Given the description of an element on the screen output the (x, y) to click on. 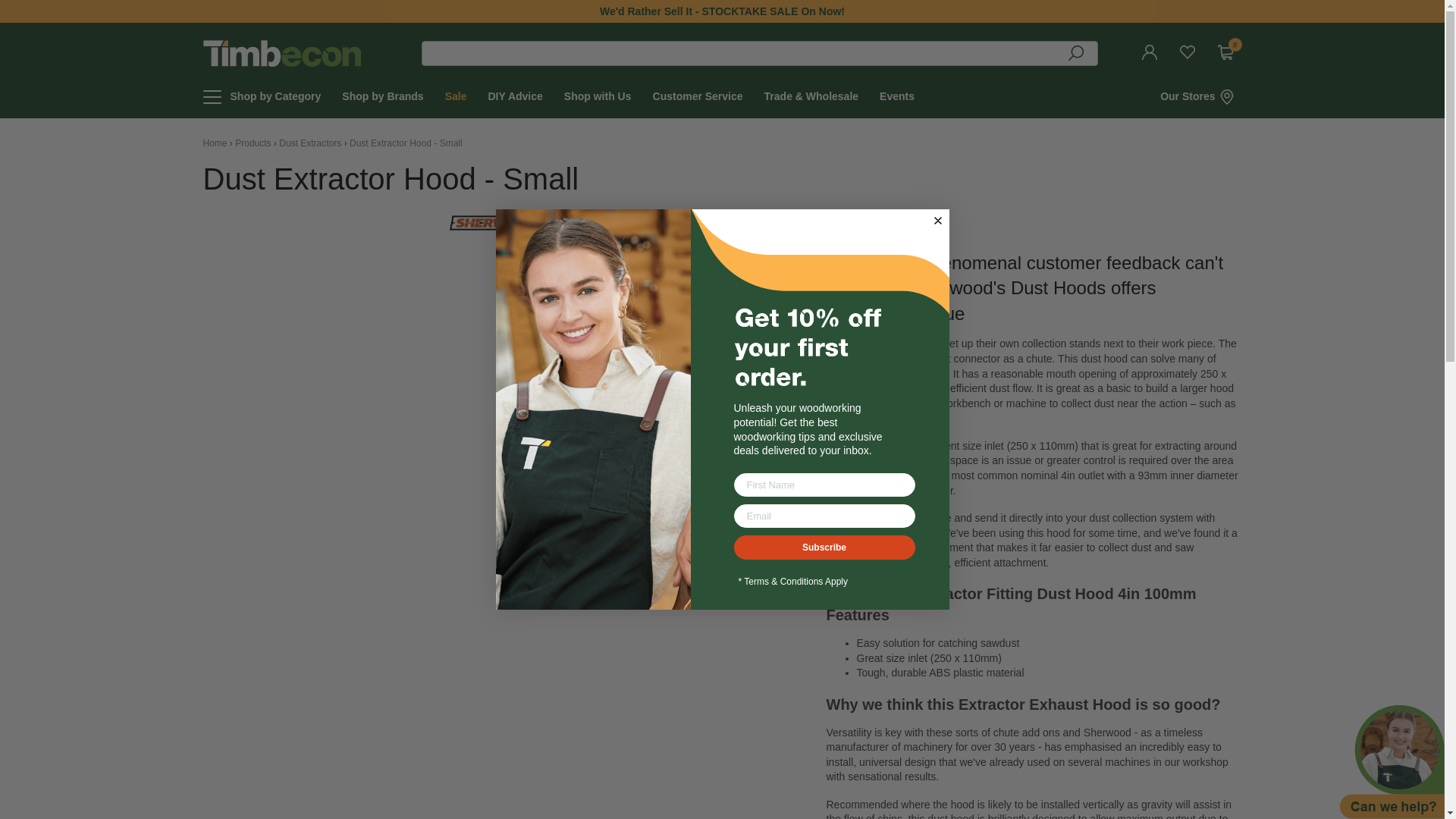
Home (215, 143)
Sale (456, 96)
Dust Extractor Hood - Small (406, 143)
We'd Rather Sell It - STOCKTAKE SALE On Now! (721, 10)
Shop by Brands (382, 96)
Customer Service (697, 96)
Shop with Us (597, 96)
Events (896, 96)
DIY Advice (514, 96)
My Account (1153, 52)
Search (1077, 56)
My Wishlist (1191, 52)
Our Stores (1200, 96)
Dust Extractors (309, 143)
Shop by Category (275, 96)
